Given the description of an element on the screen output the (x, y) to click on. 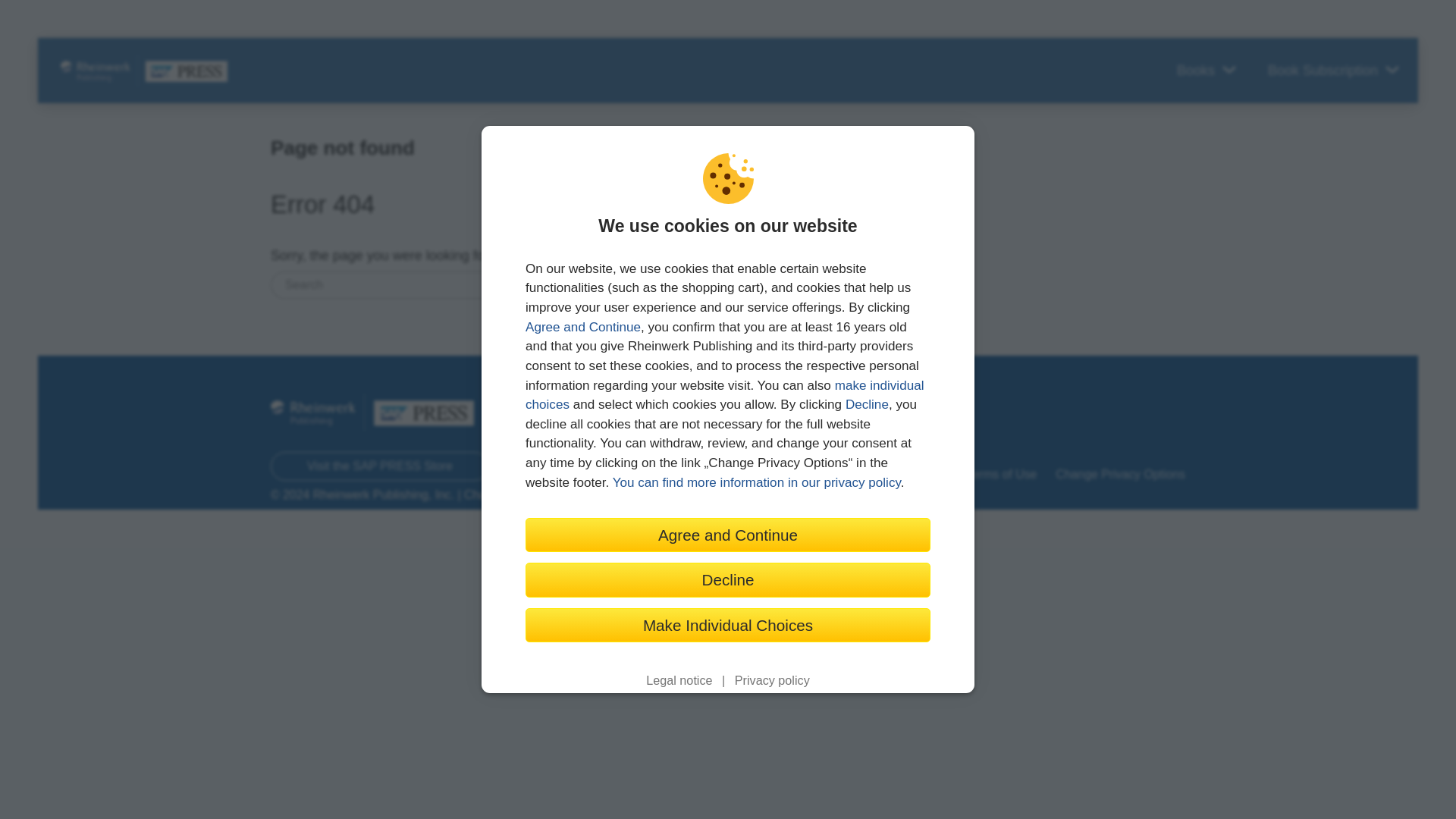
instagram (1124, 406)
Visit the SAP PRESS Store (379, 466)
Privacy Policy (909, 475)
Decline (866, 404)
You can find more information in our privacy policy (756, 482)
Terms of Use (1001, 475)
rss (1176, 406)
About Us (745, 475)
Change Privacy Options (1120, 475)
facebook (967, 406)
Agree and Continue (582, 327)
twitter (1020, 406)
Home (685, 475)
Books (1203, 70)
linkedin (1071, 406)
